Given the description of an element on the screen output the (x, y) to click on. 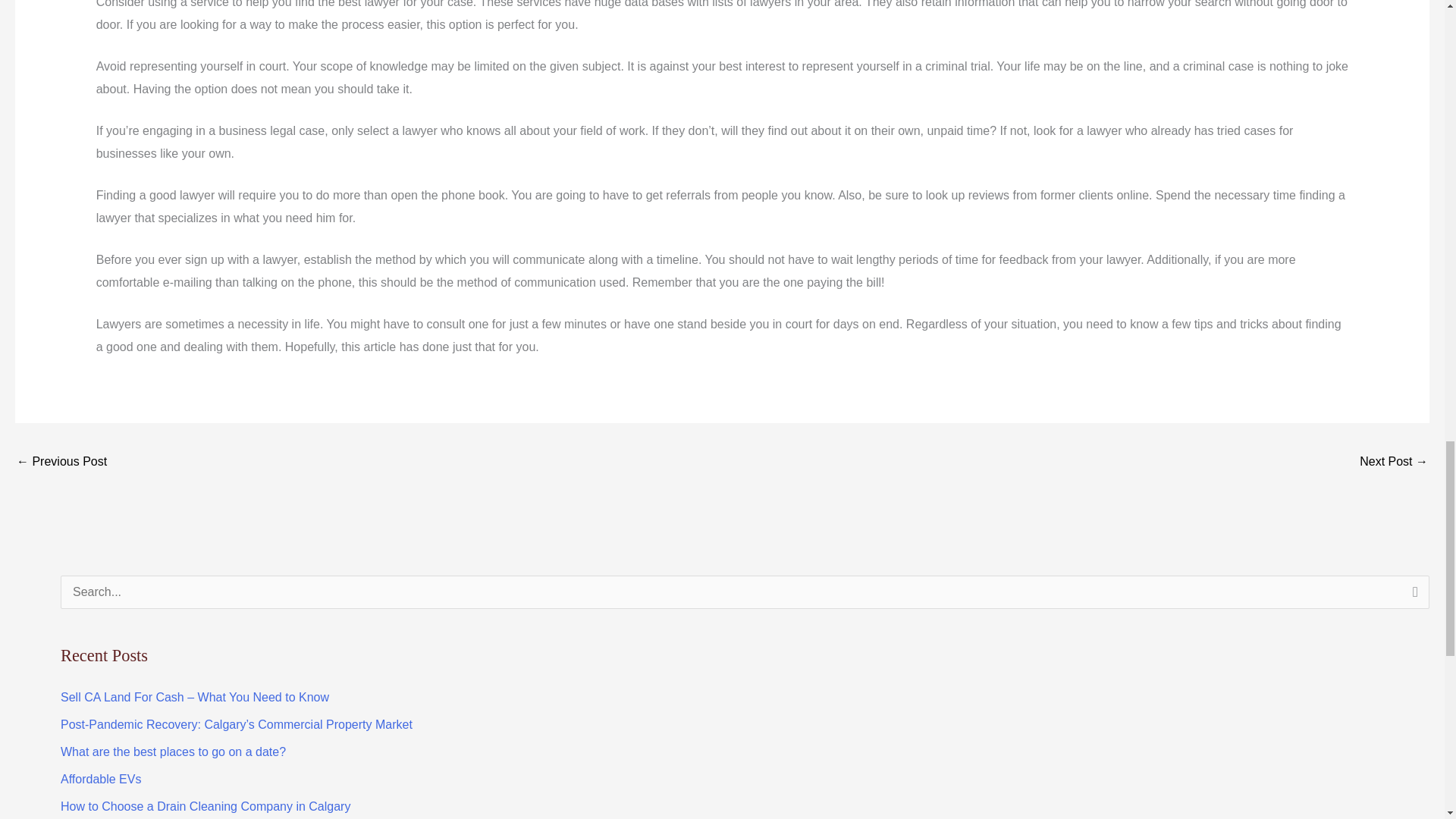
What are the best places to go on a date? (173, 751)
Help You When Dealing With A Lawyer (61, 462)
Search (1411, 596)
Affordable EVs (101, 779)
Search (1411, 596)
How to Choose a Drain Cleaning Company in Calgary (205, 806)
Search (1411, 596)
